Given the description of an element on the screen output the (x, y) to click on. 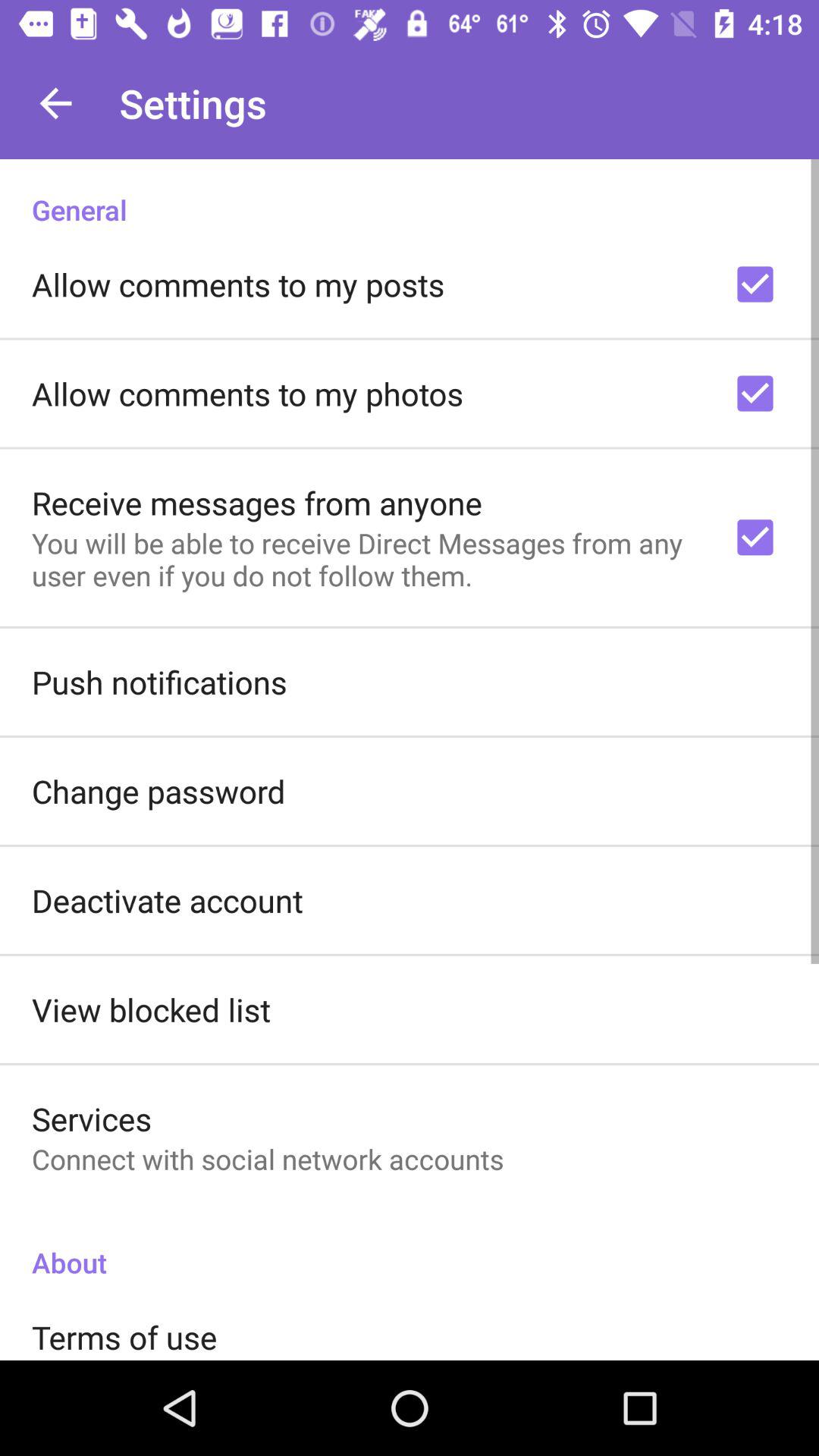
jump to the deactivate account (167, 899)
